Given the description of an element on the screen output the (x, y) to click on. 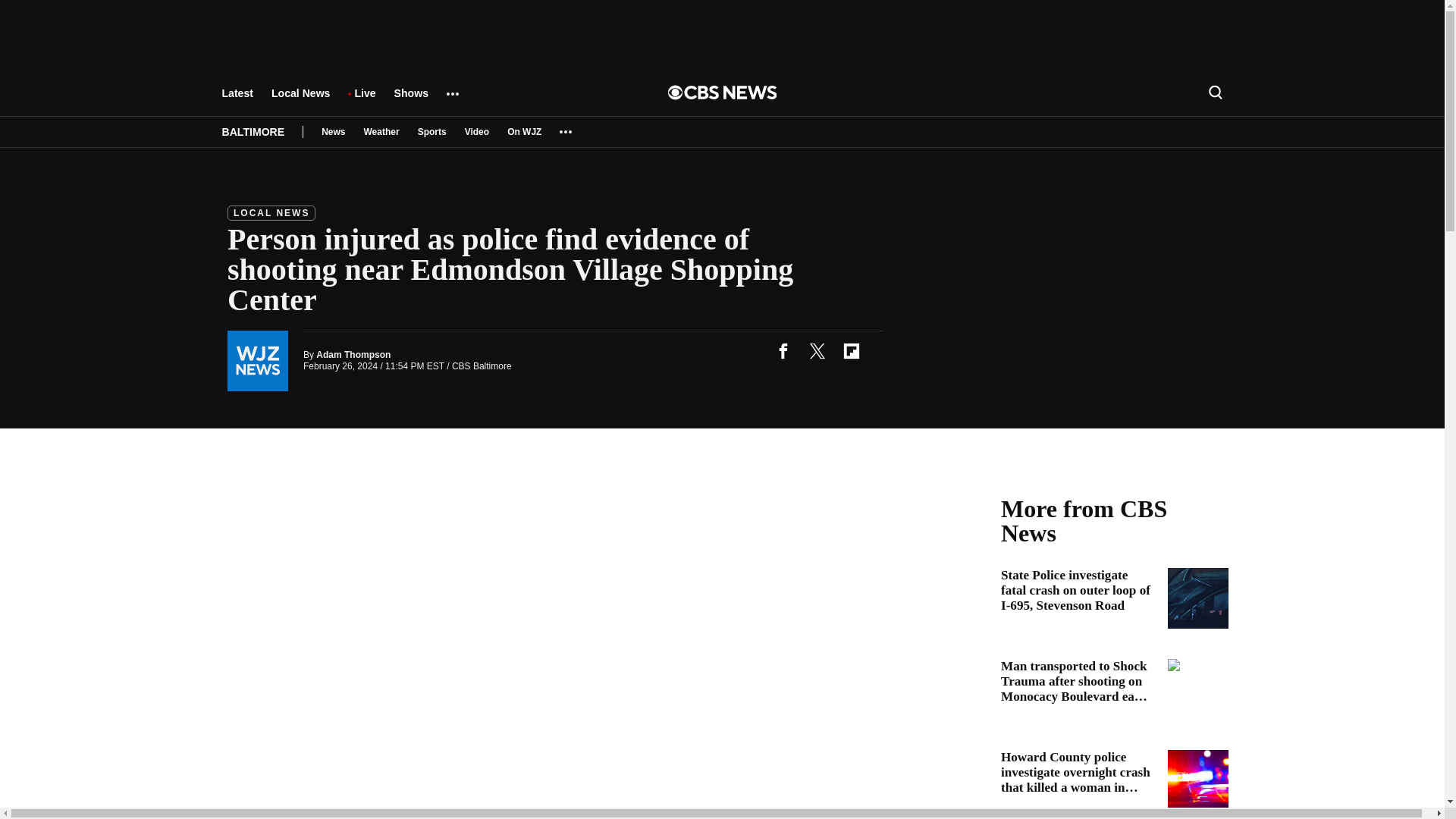
flipboard (850, 350)
Latest (236, 100)
twitter (816, 350)
facebook (782, 350)
Local News (300, 100)
